Given the description of an element on the screen output the (x, y) to click on. 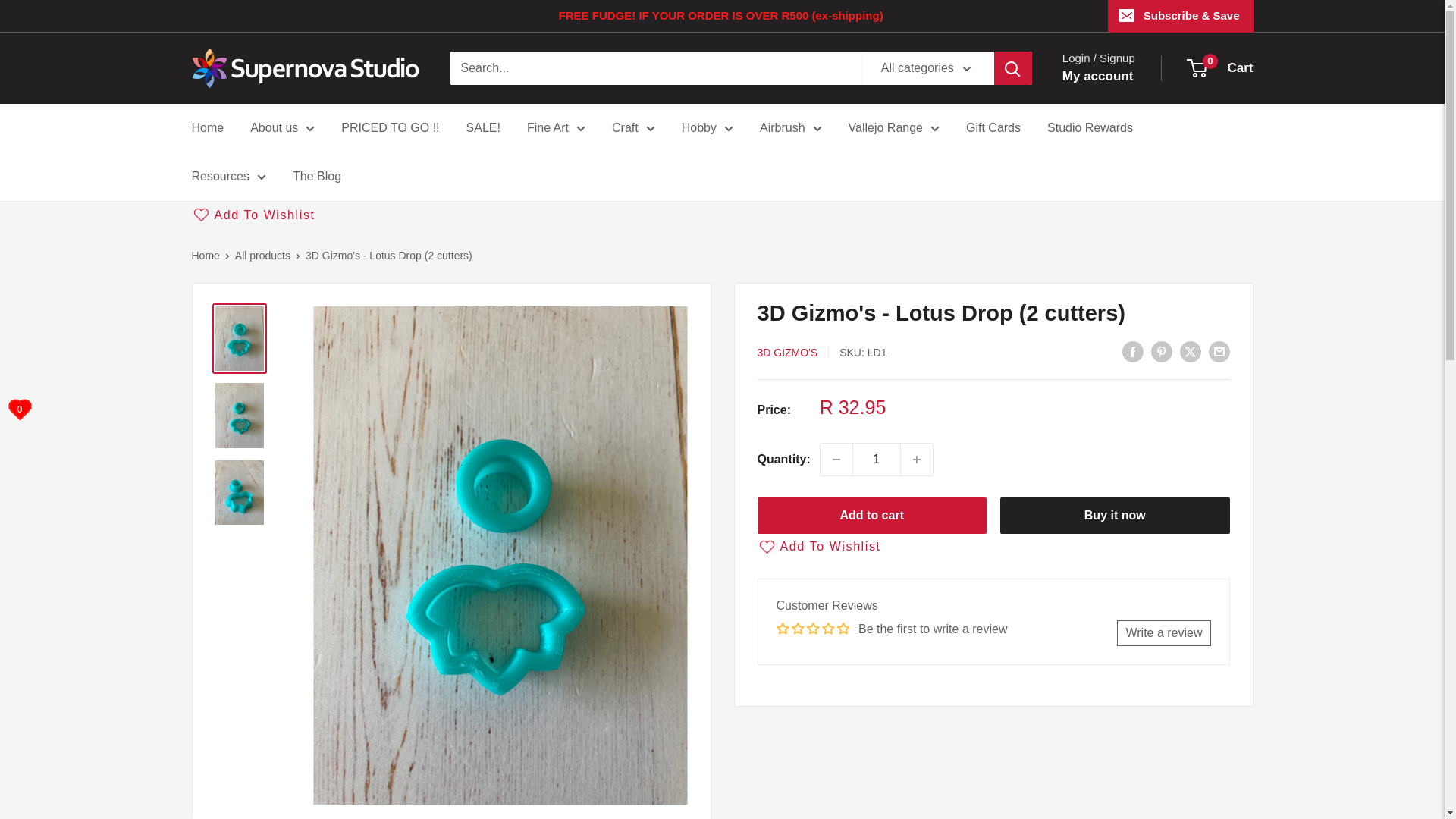
1 (876, 459)
Decrease quantity by 1 (836, 459)
Increase quantity by 1 (917, 459)
Wishlist (19, 409)
